Given the description of an element on the screen output the (x, y) to click on. 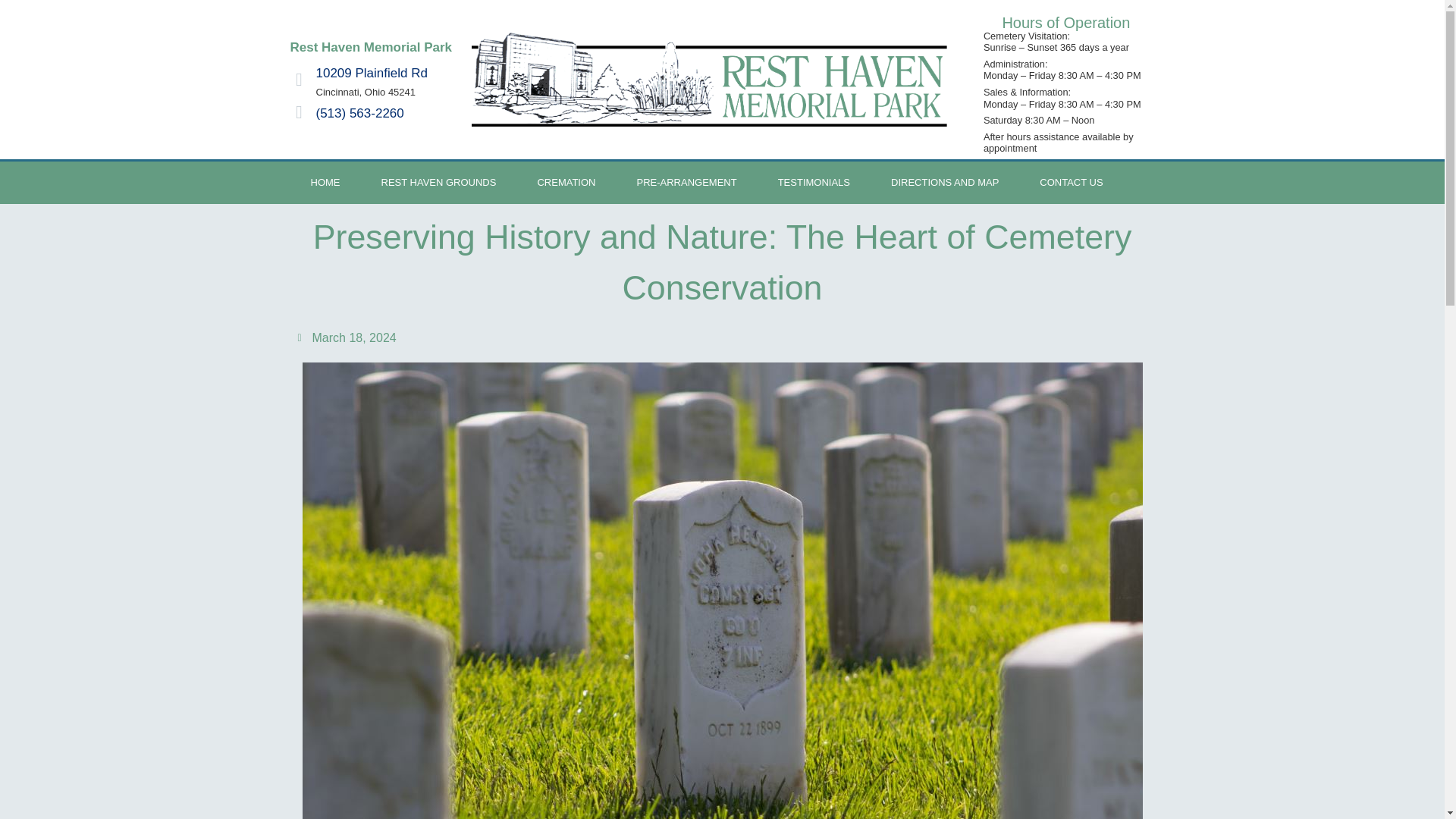
Rest Haven Memorial Park (370, 47)
PRE-ARRANGEMENT (686, 182)
CREMATION (565, 182)
REST HAVEN GROUNDS (438, 182)
CONTACT US (1070, 182)
HOME (324, 182)
TESTIMONIALS (813, 182)
DIRECTIONS AND MAP (944, 182)
March 18, 2024 (346, 338)
